Given the description of an element on the screen output the (x, y) to click on. 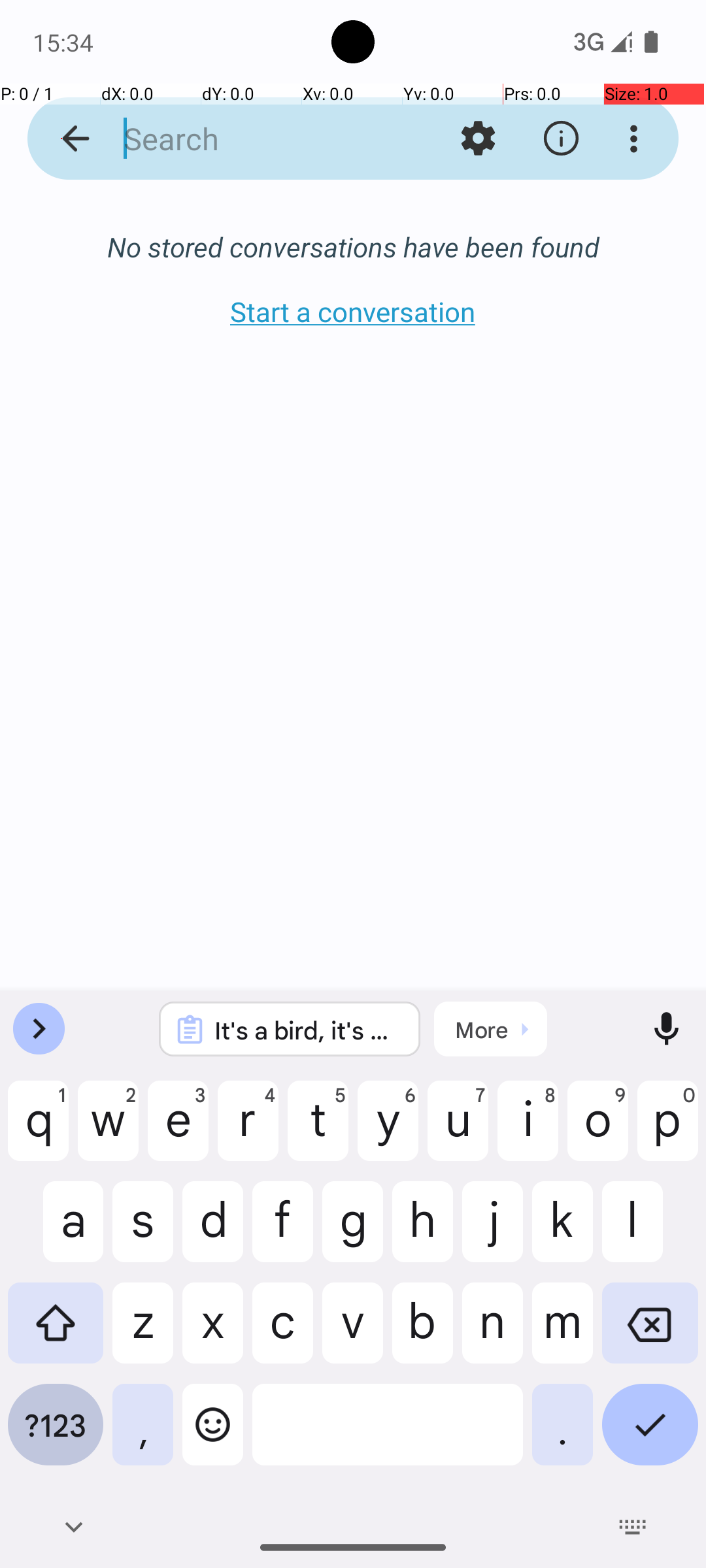
No stored conversations have been found Element type: android.widget.TextView (353, 246)
Start a conversation Element type: android.widget.TextView (352, 311)
